Given the description of an element on the screen output the (x, y) to click on. 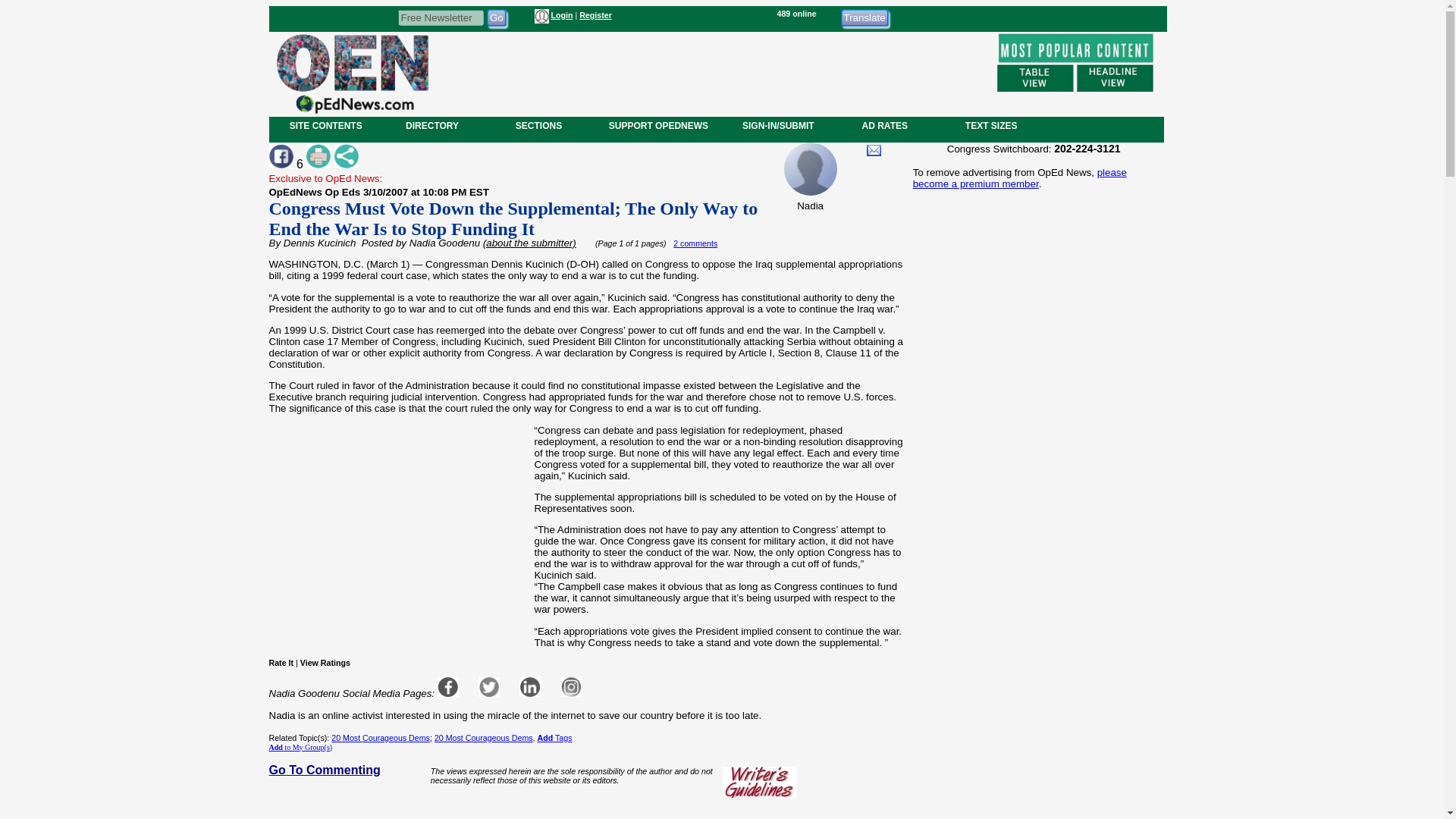
Register (595, 14)
Translate (864, 17)
Free Newsletter (440, 17)
AD RATES (884, 125)
TEXT SIZES (990, 125)
More Sharing (346, 156)
Go (496, 17)
Go To Commenting (323, 769)
2 comments (694, 243)
Printer Friendly Page (317, 156)
Twitter page url on login Profile not filled in (489, 686)
Add Tags (554, 737)
Advertisement (711, 71)
Rate It (280, 662)
20 Most Courageous Dems (380, 737)
